Given the description of an element on the screen output the (x, y) to click on. 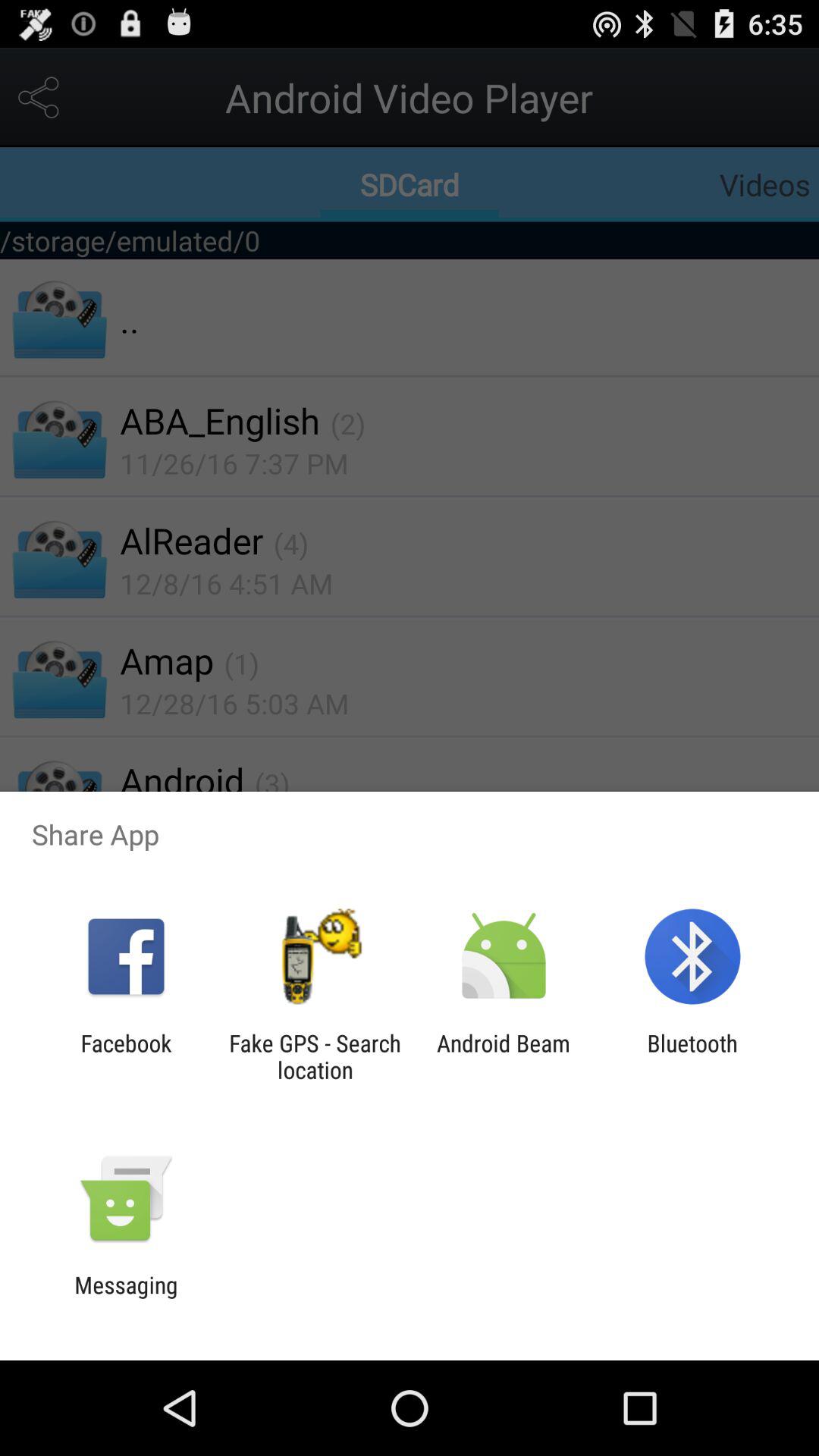
click the app to the right of fake gps search app (503, 1056)
